Given the description of an element on the screen output the (x, y) to click on. 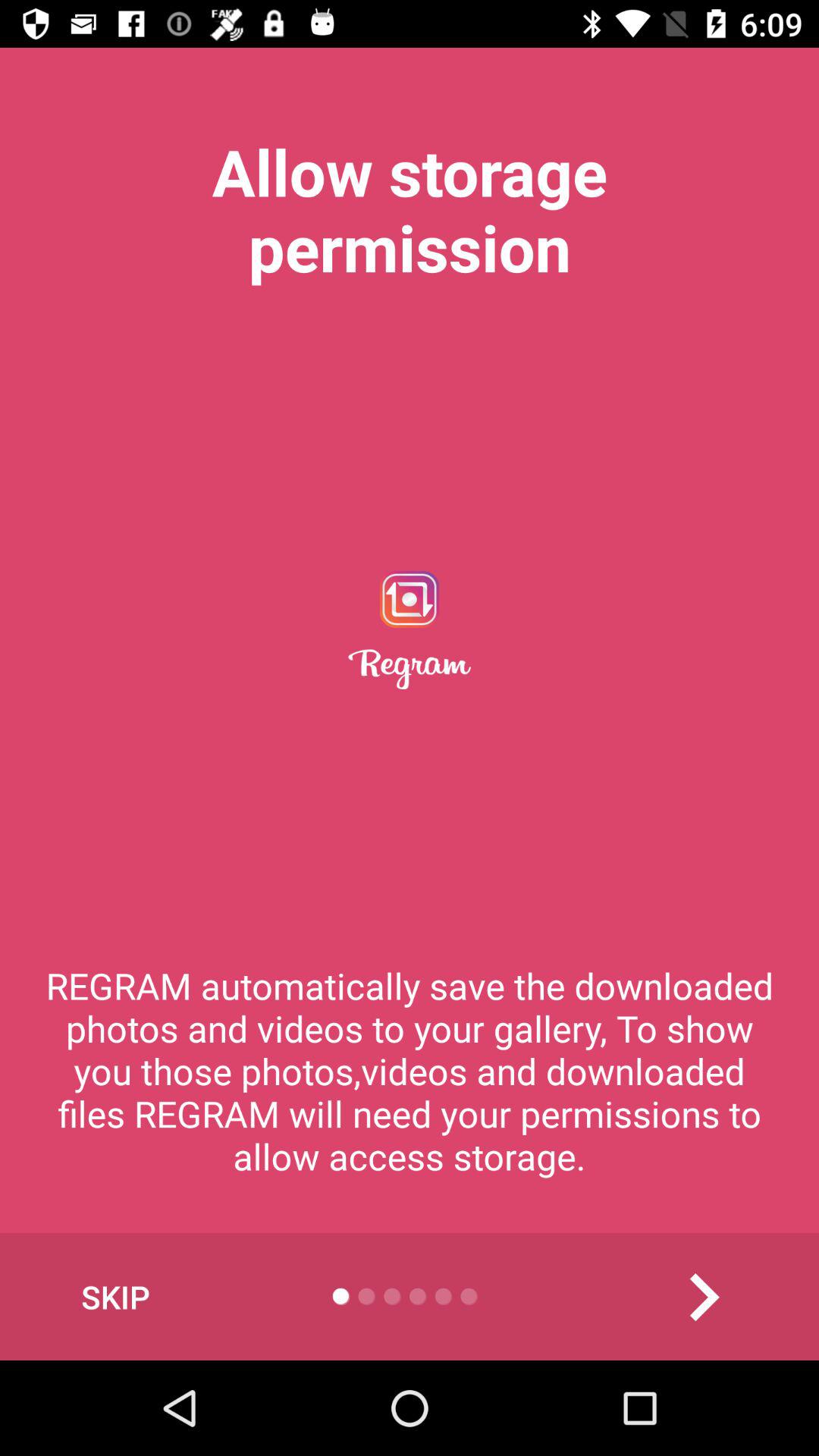
go forward (703, 1296)
